Given the description of an element on the screen output the (x, y) to click on. 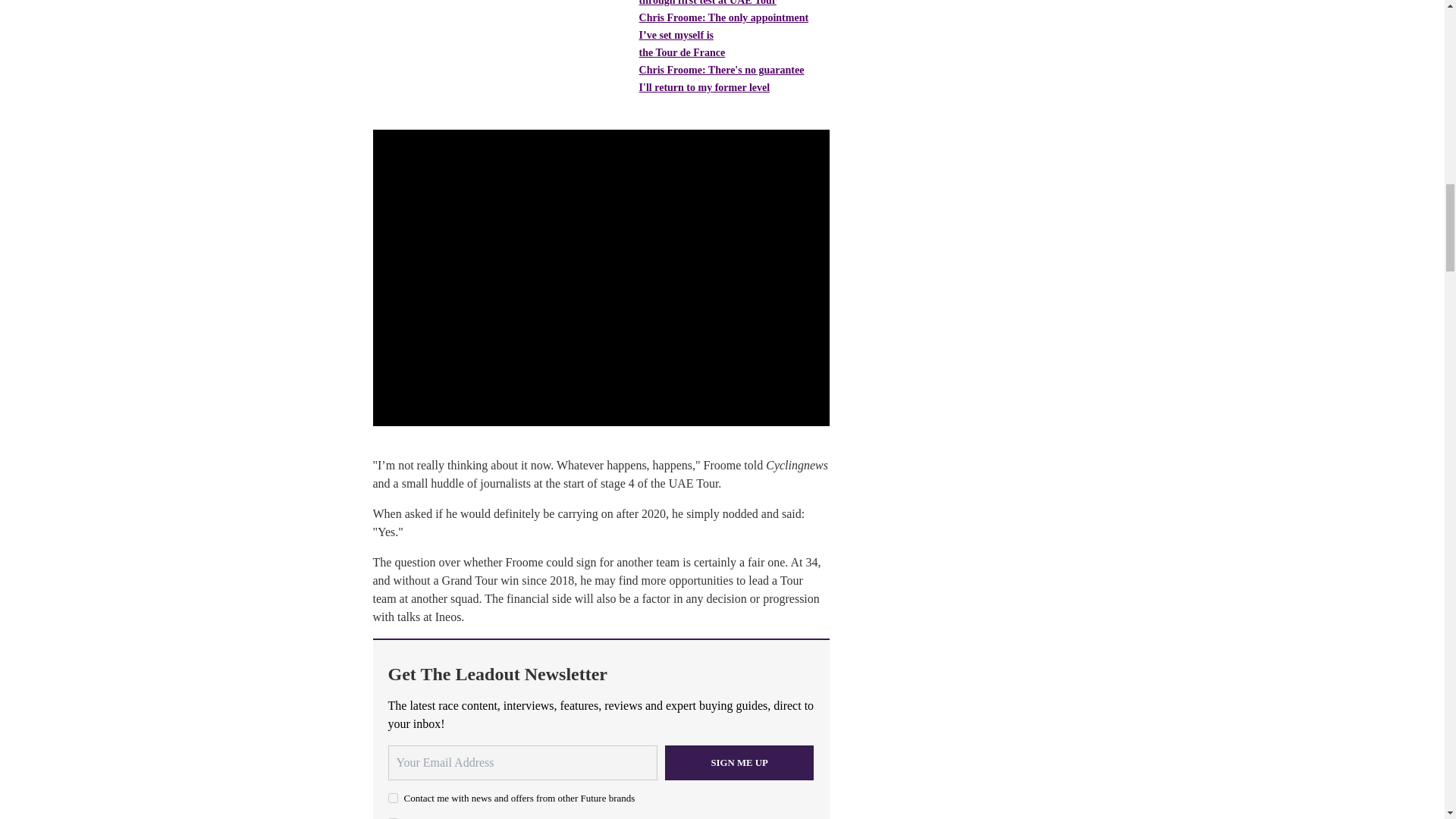
Sign me up (739, 762)
on (392, 798)
